Given the description of an element on the screen output the (x, y) to click on. 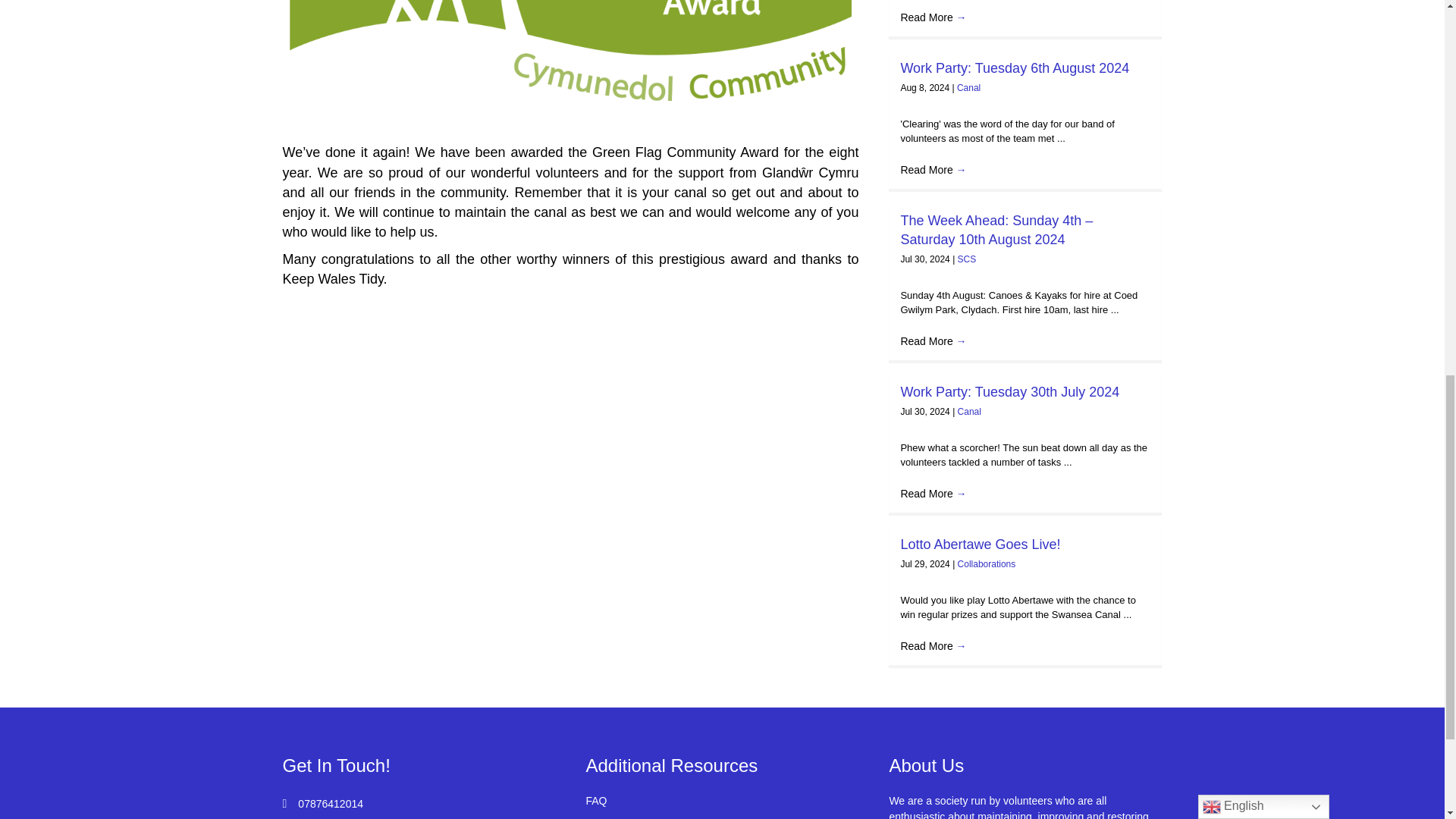
Read More (932, 17)
Work Party: Tuesday 6th August 2024 (1014, 68)
Work Party: Tuesday 30th July 2024 (1009, 391)
Read More (932, 169)
Read More (932, 340)
